Given the description of an element on the screen output the (x, y) to click on. 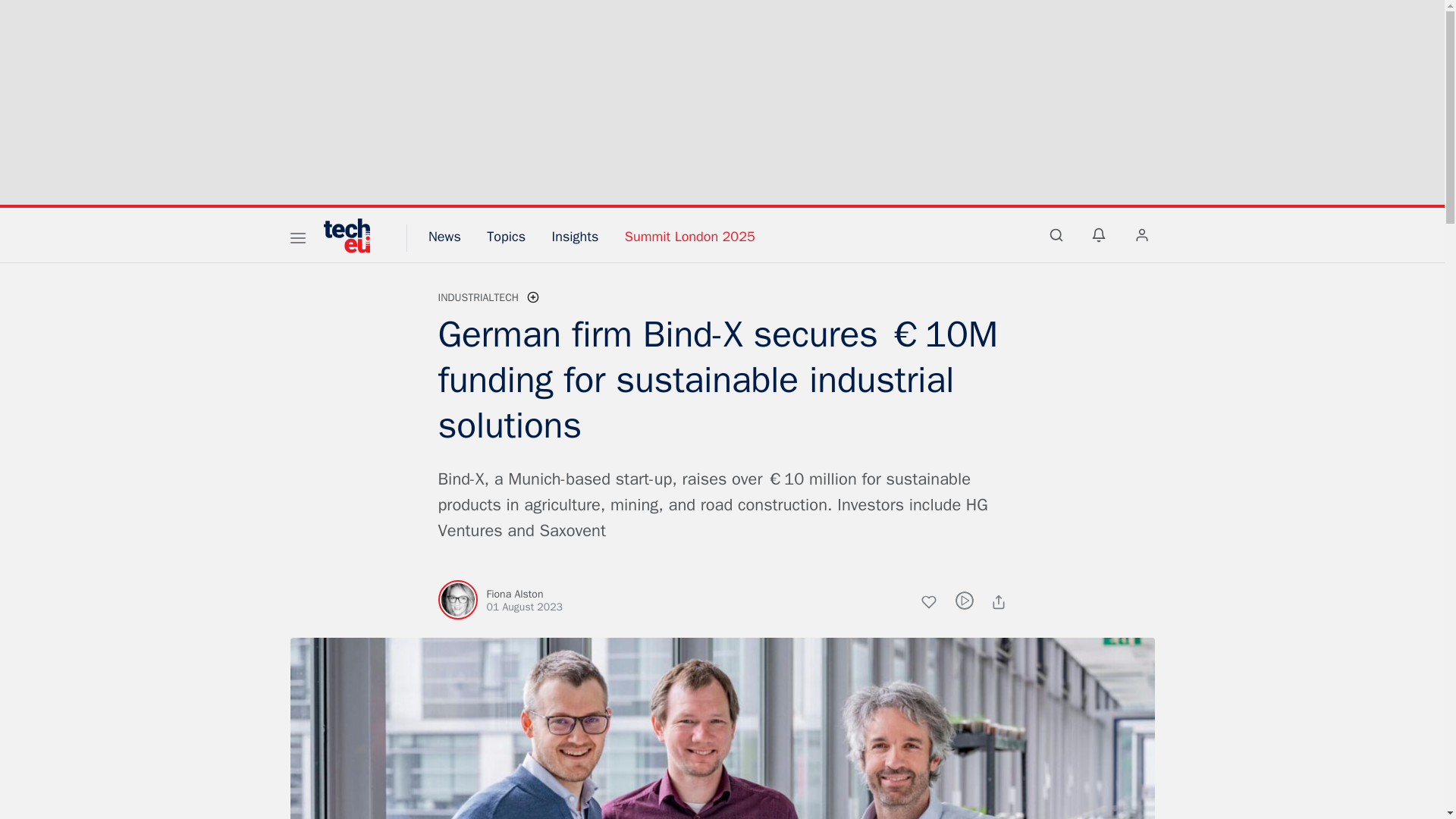
News (444, 236)
Listen this article (964, 600)
Topics (505, 236)
Like (936, 604)
Insights (574, 236)
Summit London 2025 (689, 236)
Industrialtech (478, 297)
